Given the description of an element on the screen output the (x, y) to click on. 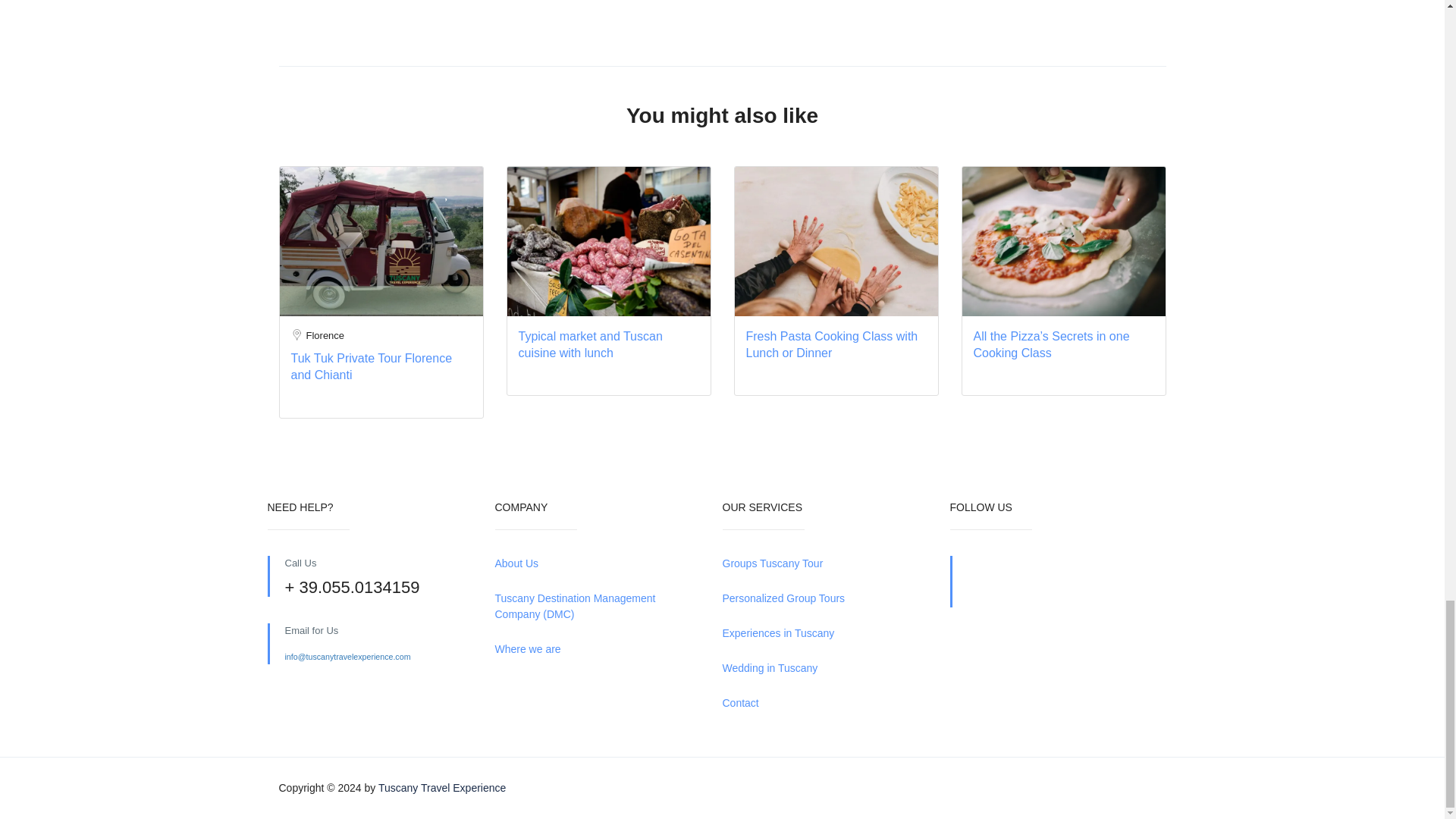
Add to wishlist (455, 191)
Add to wishlist (682, 191)
Add to wishlist (910, 191)
Typical market and Tuscan cuisine with lunch (590, 344)
Add to wishlist (1138, 191)
Tuk Tuk Private Tour Florence and Chianti (371, 366)
